Given the description of an element on the screen output the (x, y) to click on. 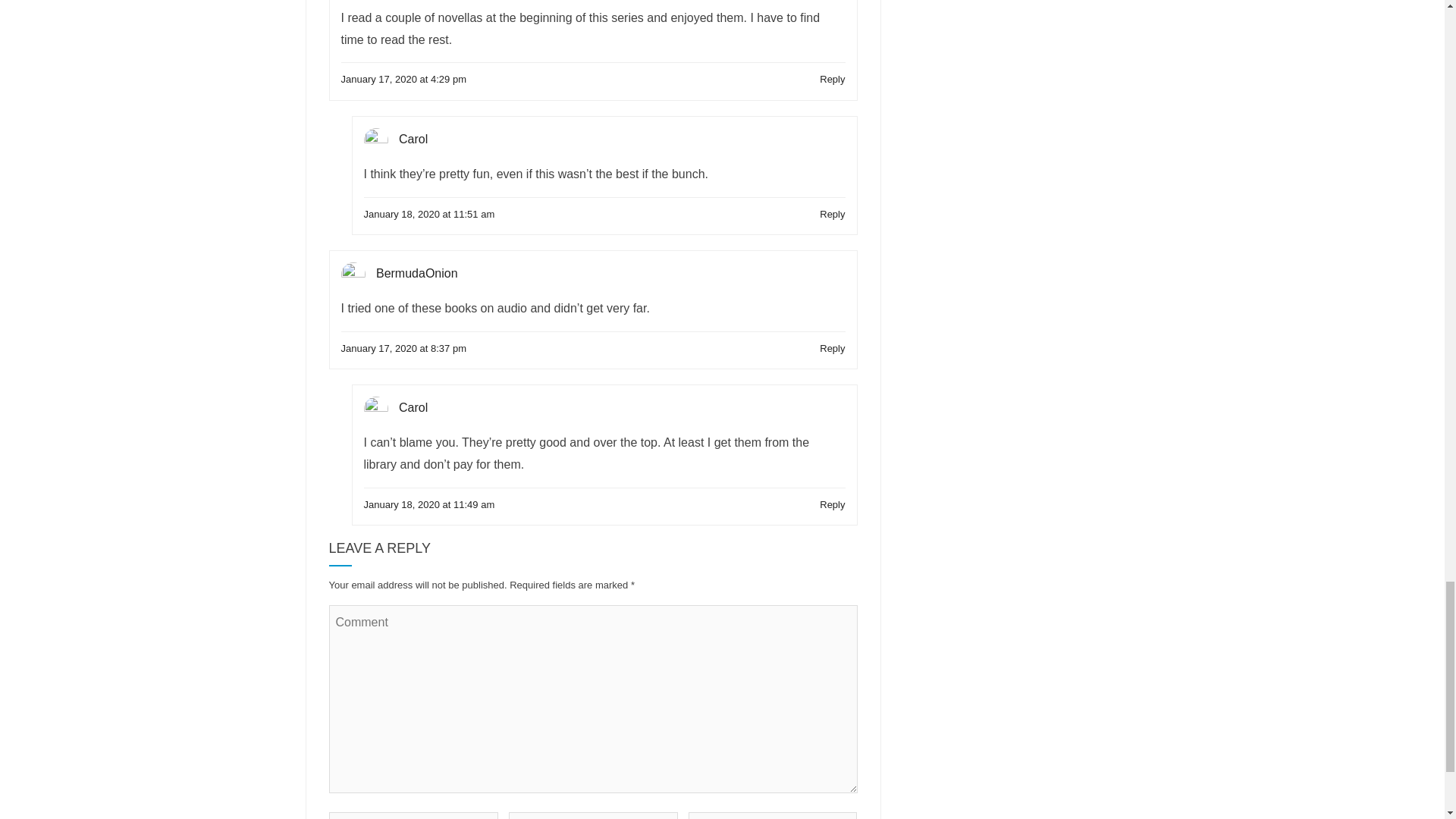
Reply (831, 213)
January 17, 2020 at 8:37 pm (403, 348)
BermudaOnion (416, 273)
January 18, 2020 at 11:51 am (429, 213)
Reply (831, 504)
Reply (831, 348)
Reply (831, 78)
January 17, 2020 at 4:29 pm (403, 78)
January 18, 2020 at 11:49 am (429, 504)
Carol (413, 138)
